Given the description of an element on the screen output the (x, y) to click on. 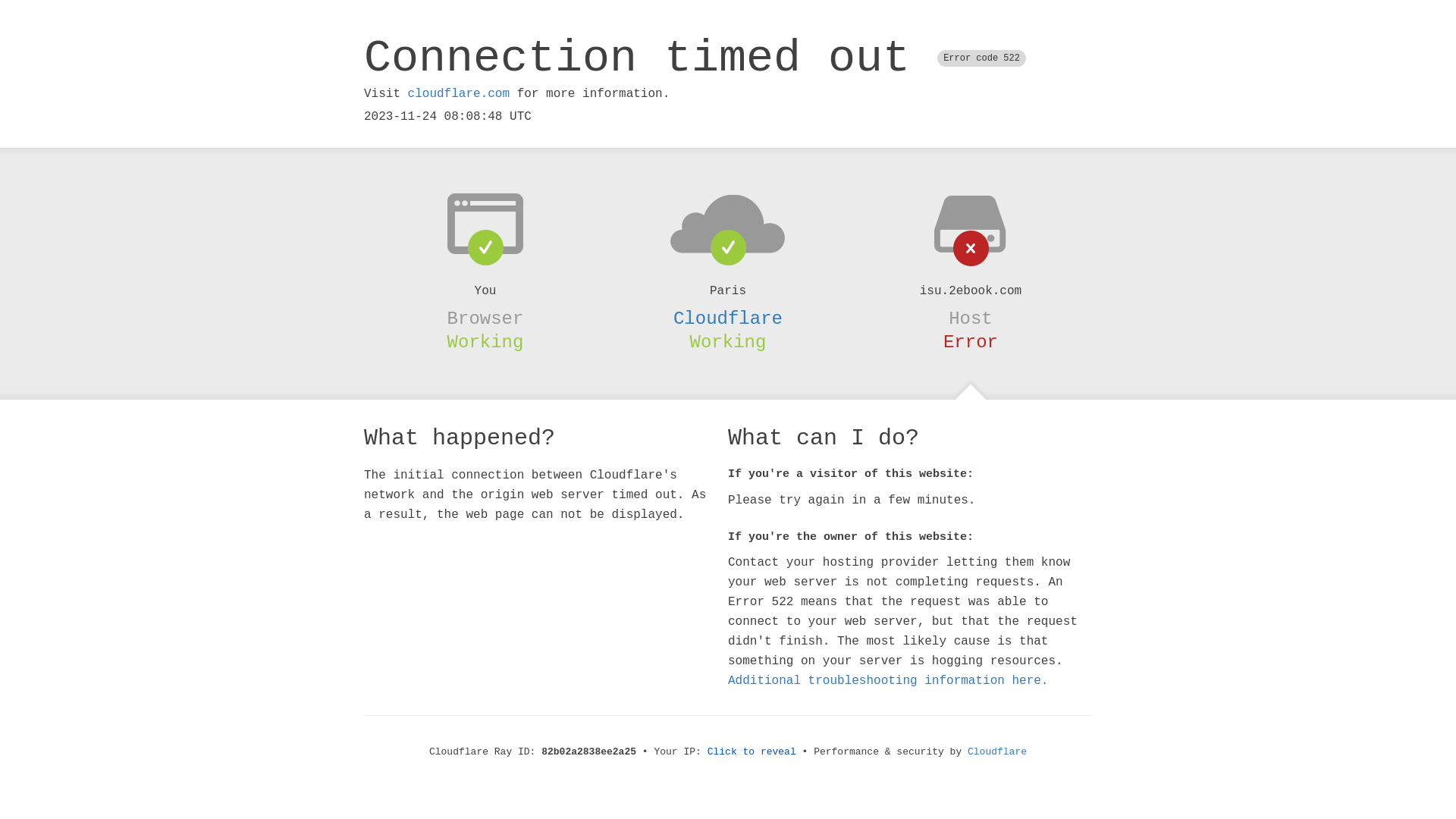
Additional troubleshooting information here. Element type: text (888, 680)
Cloudflare Element type: text (727, 318)
Cloudflare Element type: text (996, 751)
cloudflare.com Element type: text (458, 93)
Click to reveal Element type: text (751, 751)
